Given the description of an element on the screen output the (x, y) to click on. 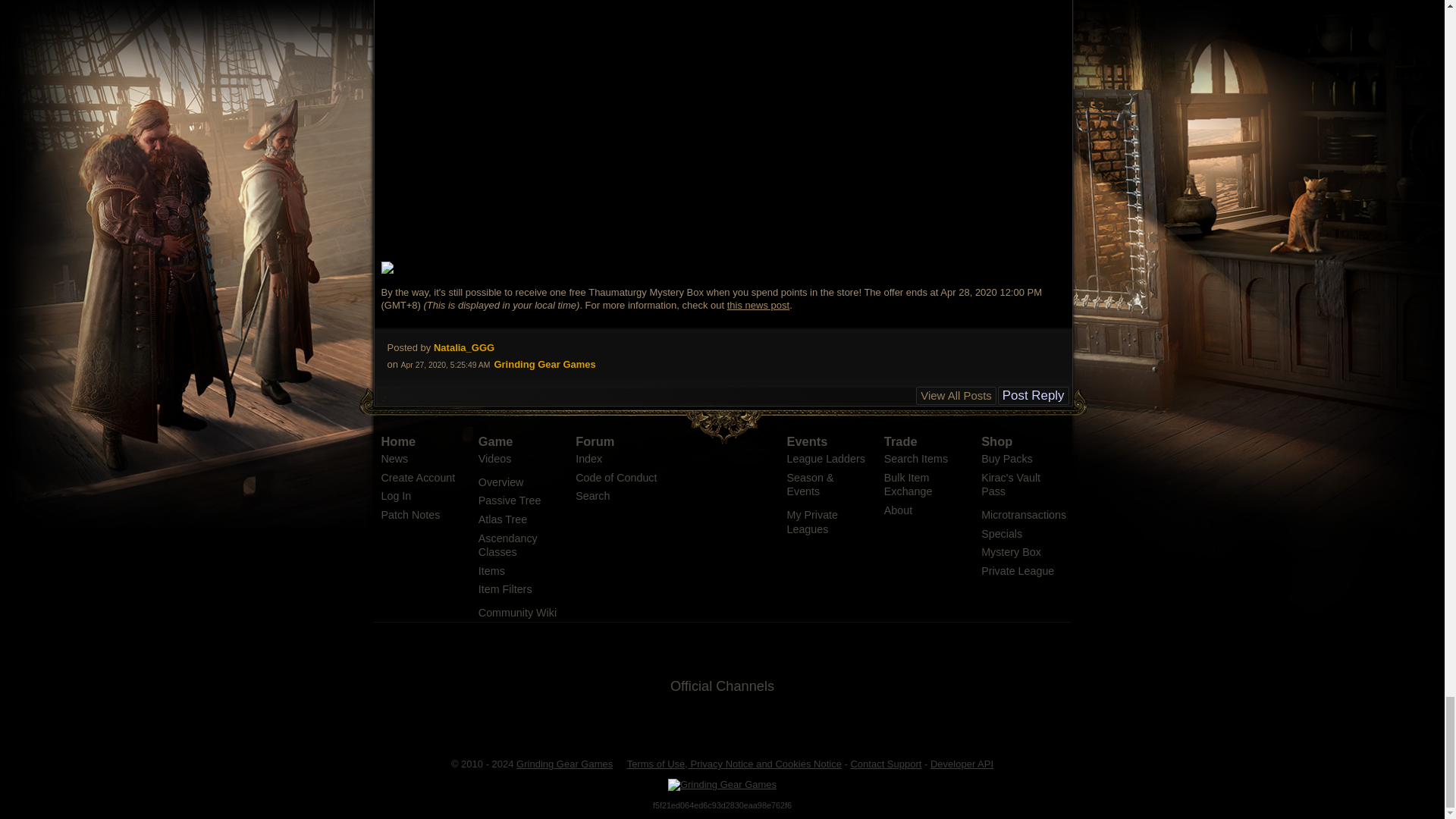
Youtube (740, 722)
Twitch (778, 722)
Facebook (702, 722)
Twitter (665, 722)
